Given the description of an element on the screen output the (x, y) to click on. 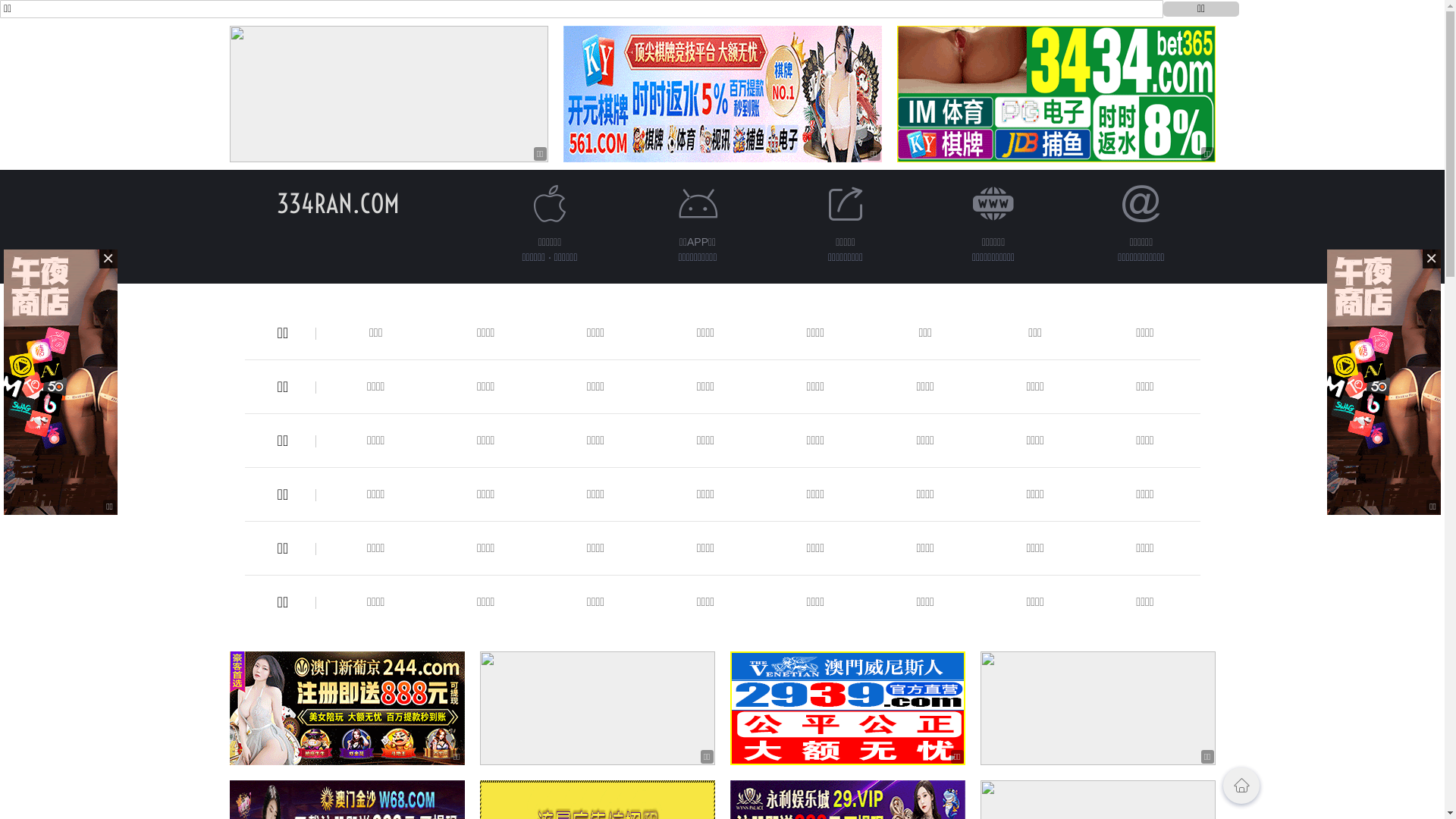
334RAN.COM Element type: text (337, 203)
